Given the description of an element on the screen output the (x, y) to click on. 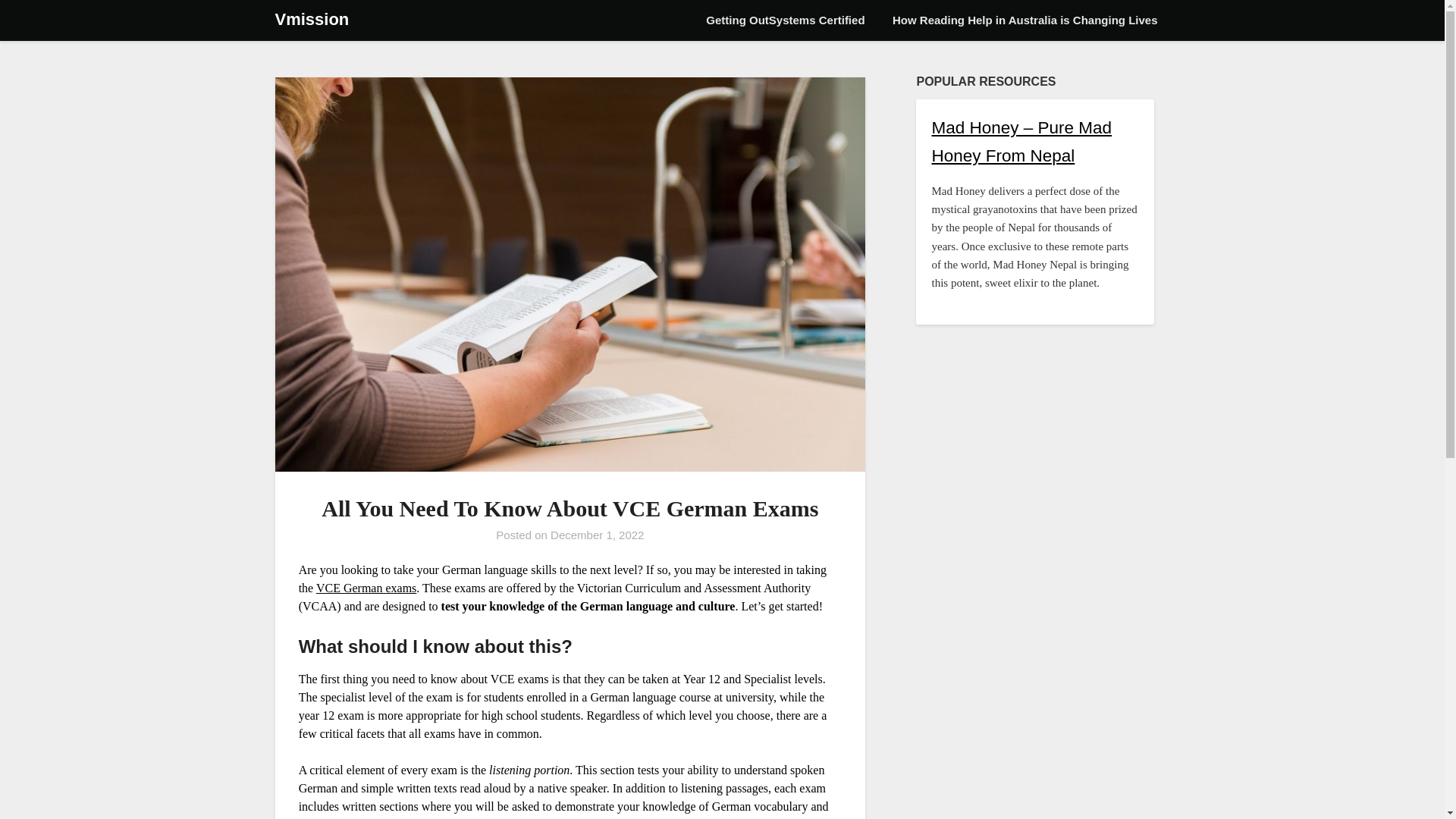
How Reading Help in Australia is Changing Lives (1025, 20)
VCE German exams (365, 586)
Vmission (312, 19)
Getting OutSystems Certified (785, 20)
December 1, 2022 (596, 534)
